Given the description of an element on the screen output the (x, y) to click on. 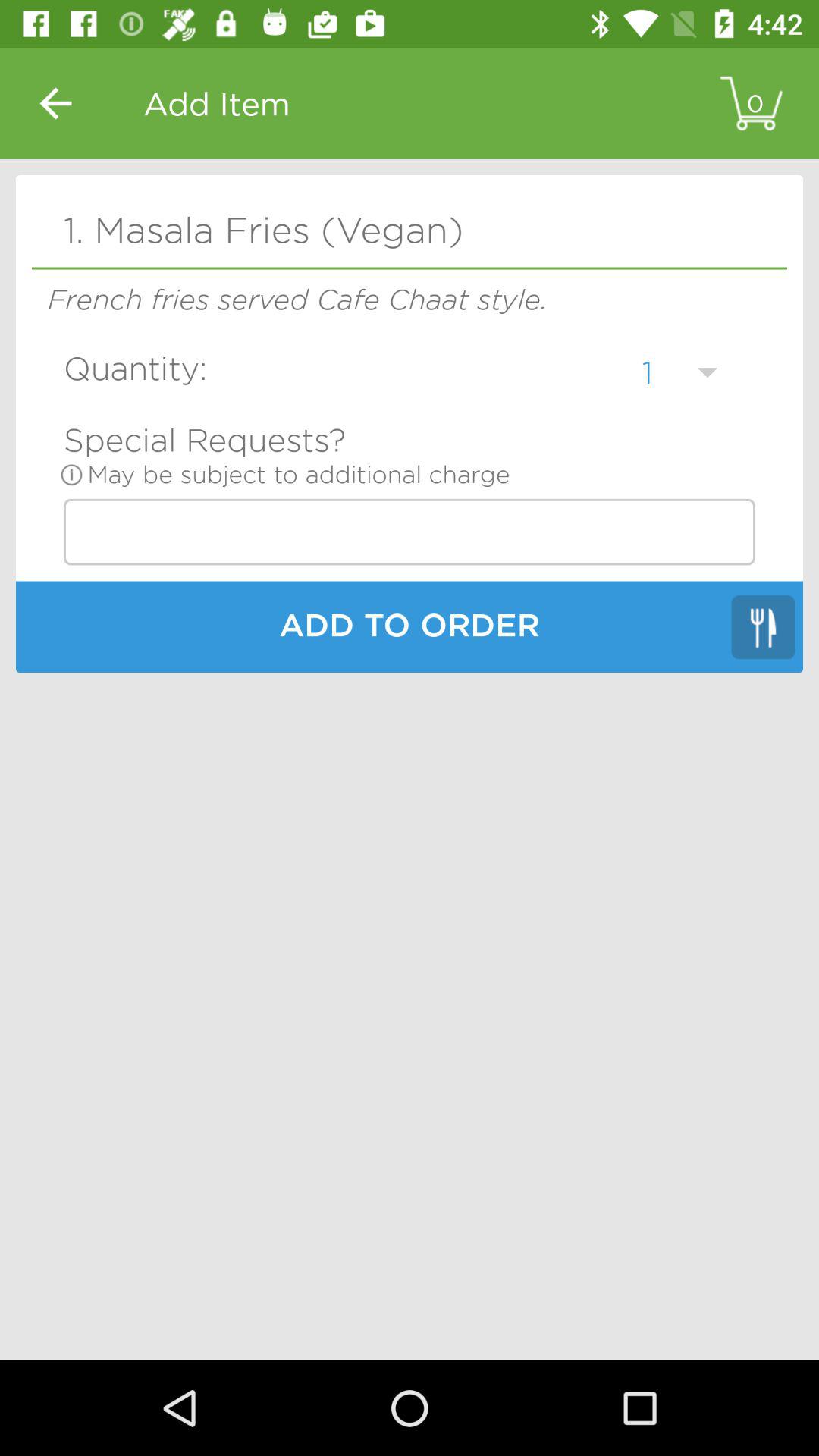
turn on item to the left of add item (55, 103)
